Given the description of an element on the screen output the (x, y) to click on. 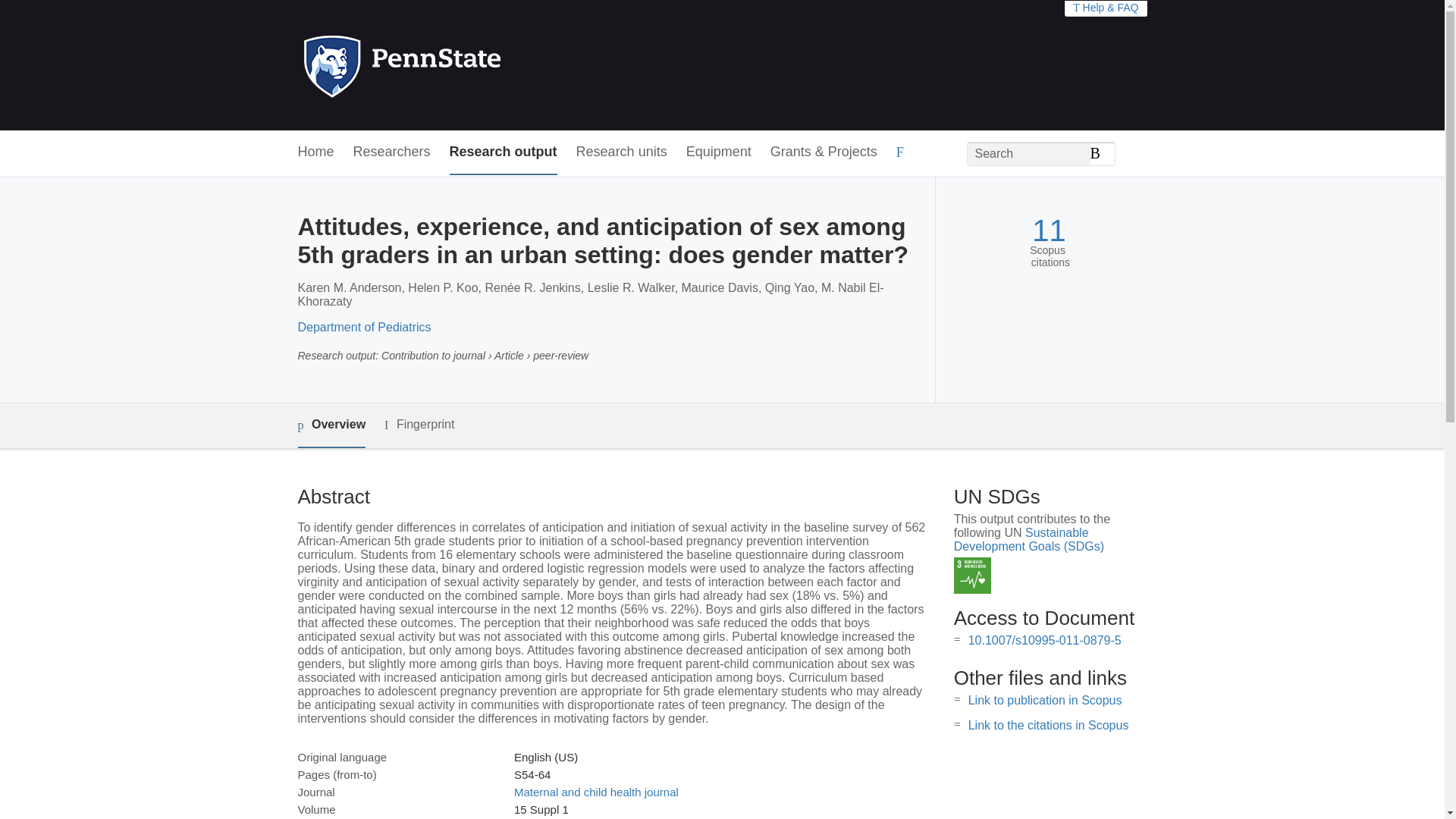
Equipment (718, 152)
Link to publication in Scopus (1045, 699)
Penn State Home (467, 65)
11 (1048, 230)
SDG 3 - Good Health and Well-being (972, 575)
Fingerprint (419, 424)
Researchers (391, 152)
Research output (503, 152)
Research units (621, 152)
Link to the citations in Scopus (1048, 725)
Department of Pediatrics (363, 327)
Overview (331, 425)
Maternal and child health journal (595, 791)
